Given the description of an element on the screen output the (x, y) to click on. 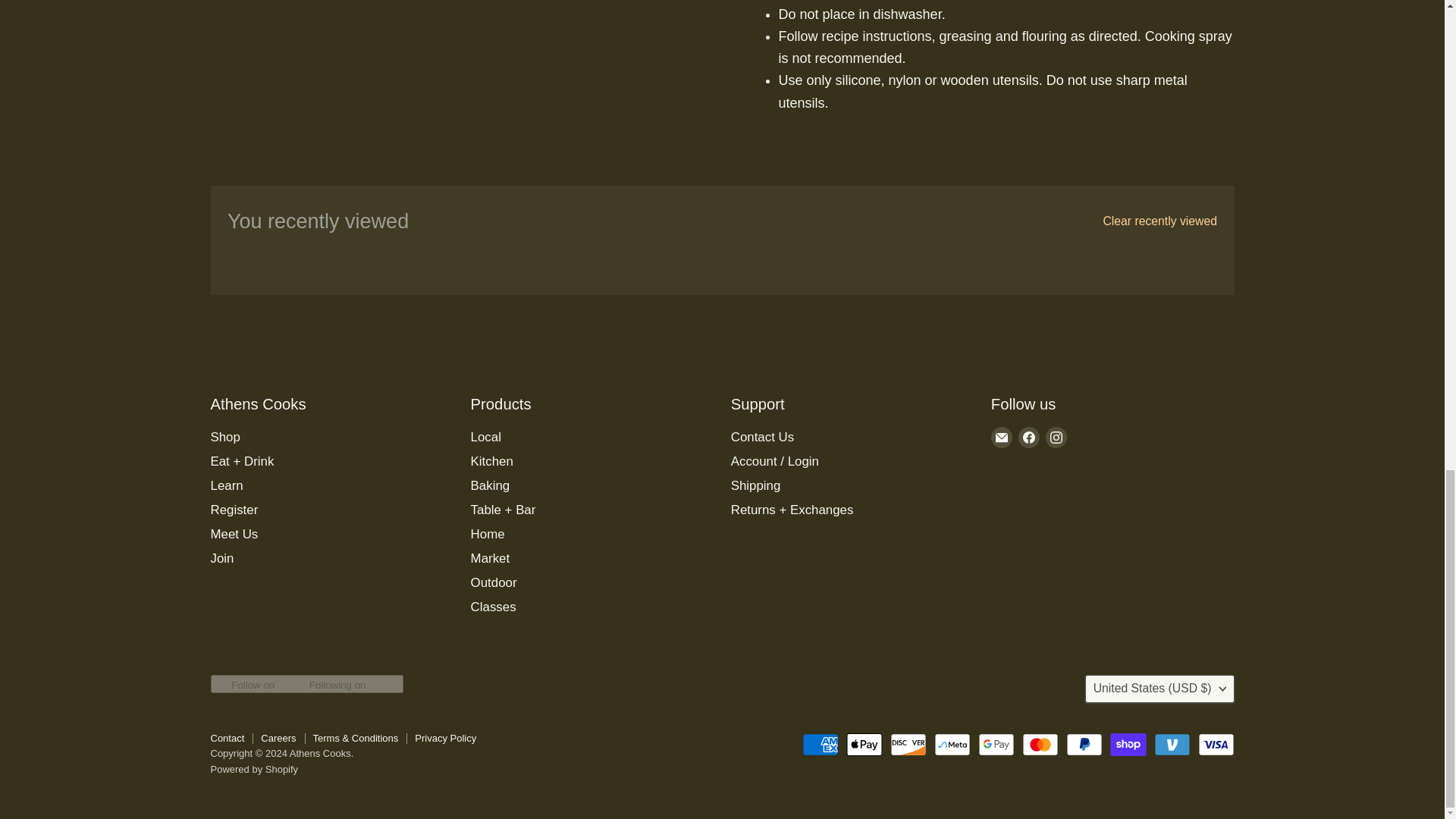
Mastercard (1040, 744)
Instagram (1056, 436)
Meta Pay (952, 744)
Apple Pay (863, 744)
American Express (820, 744)
Google Pay (996, 744)
Facebook (1028, 436)
Discover (907, 744)
Email (1001, 436)
